Given the description of an element on the screen output the (x, y) to click on. 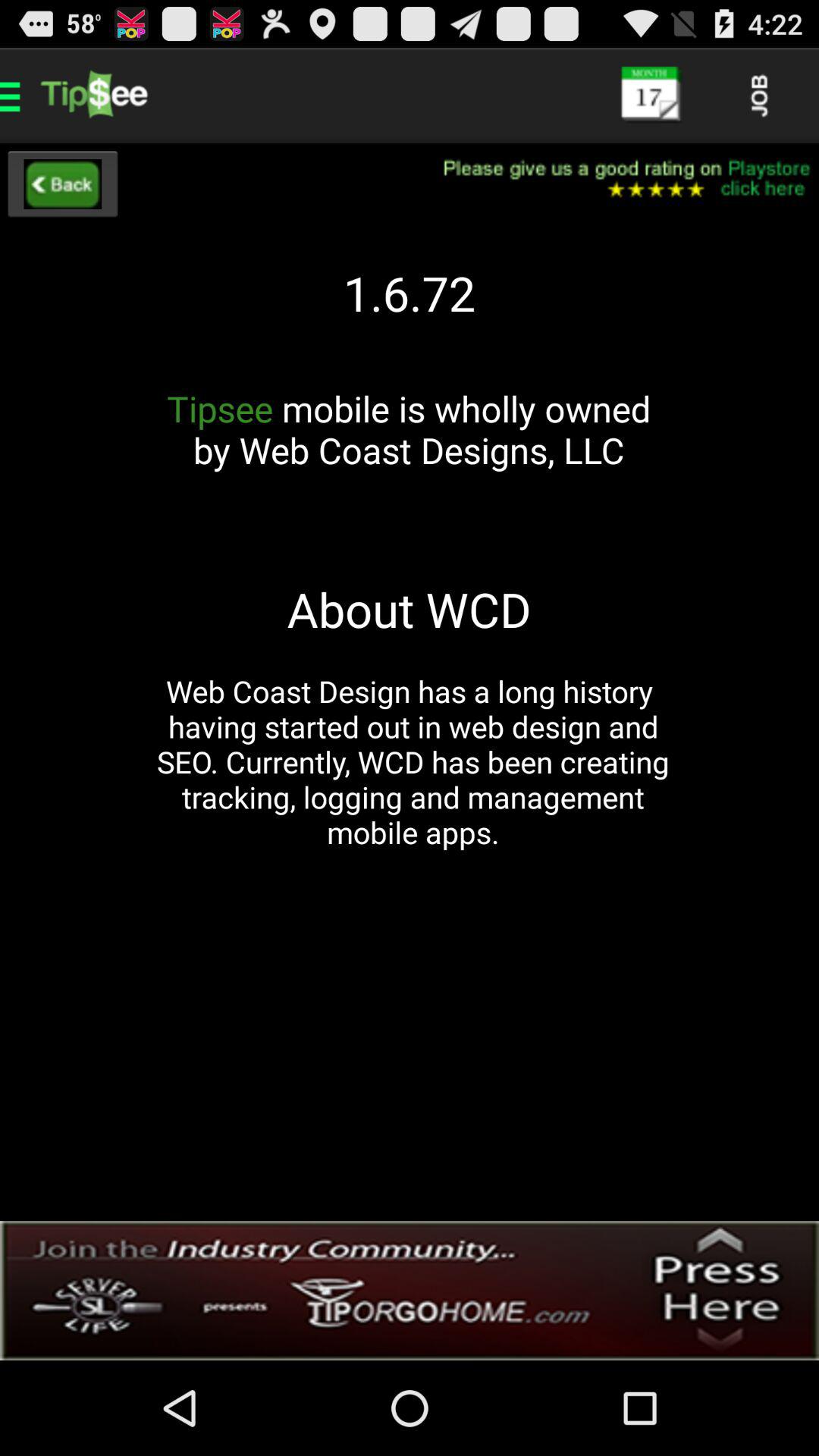
please rate this selection (616, 178)
